Given the description of an element on the screen output the (x, y) to click on. 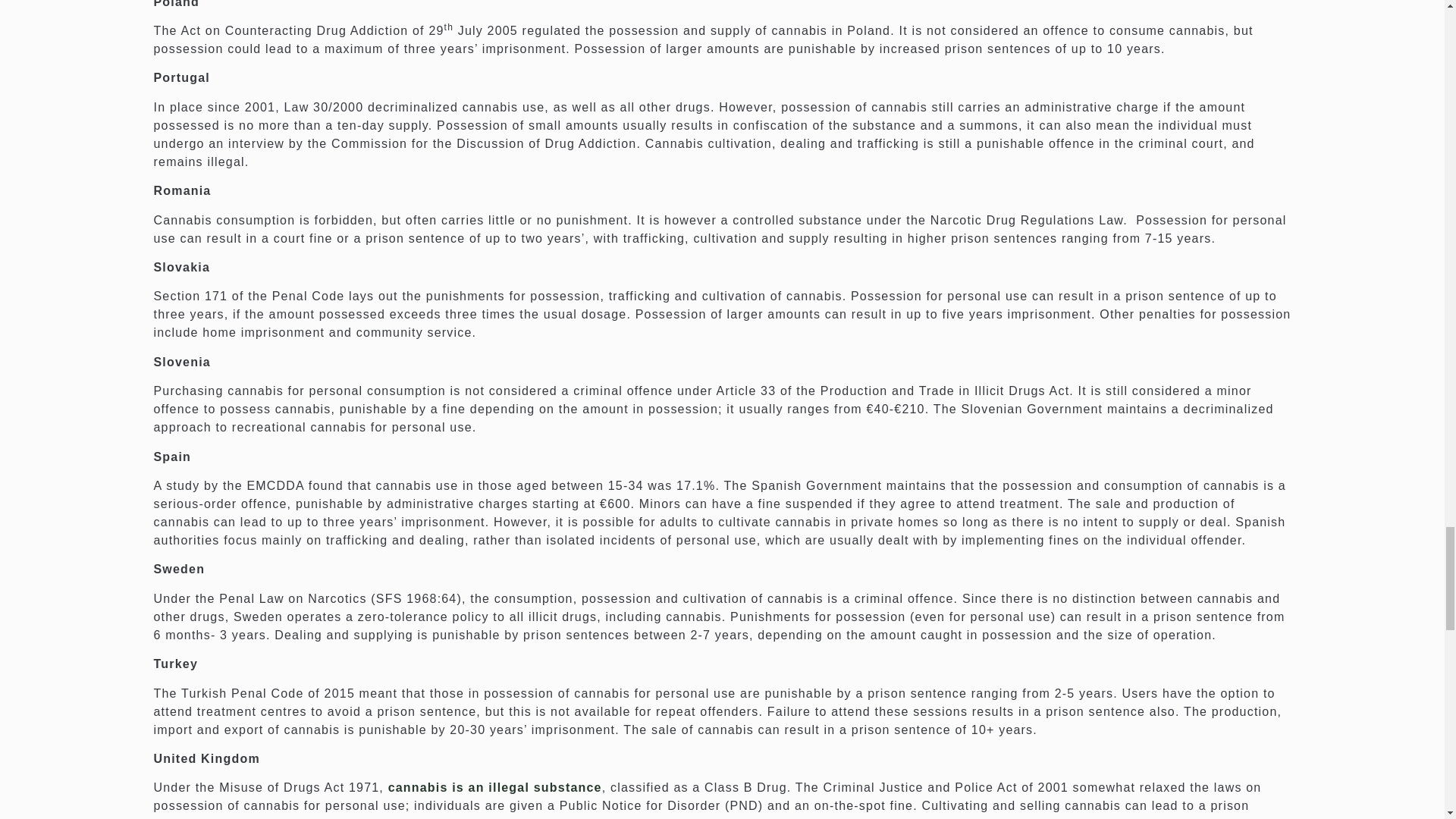
cannabis illegal substance (495, 787)
